Given the description of an element on the screen output the (x, y) to click on. 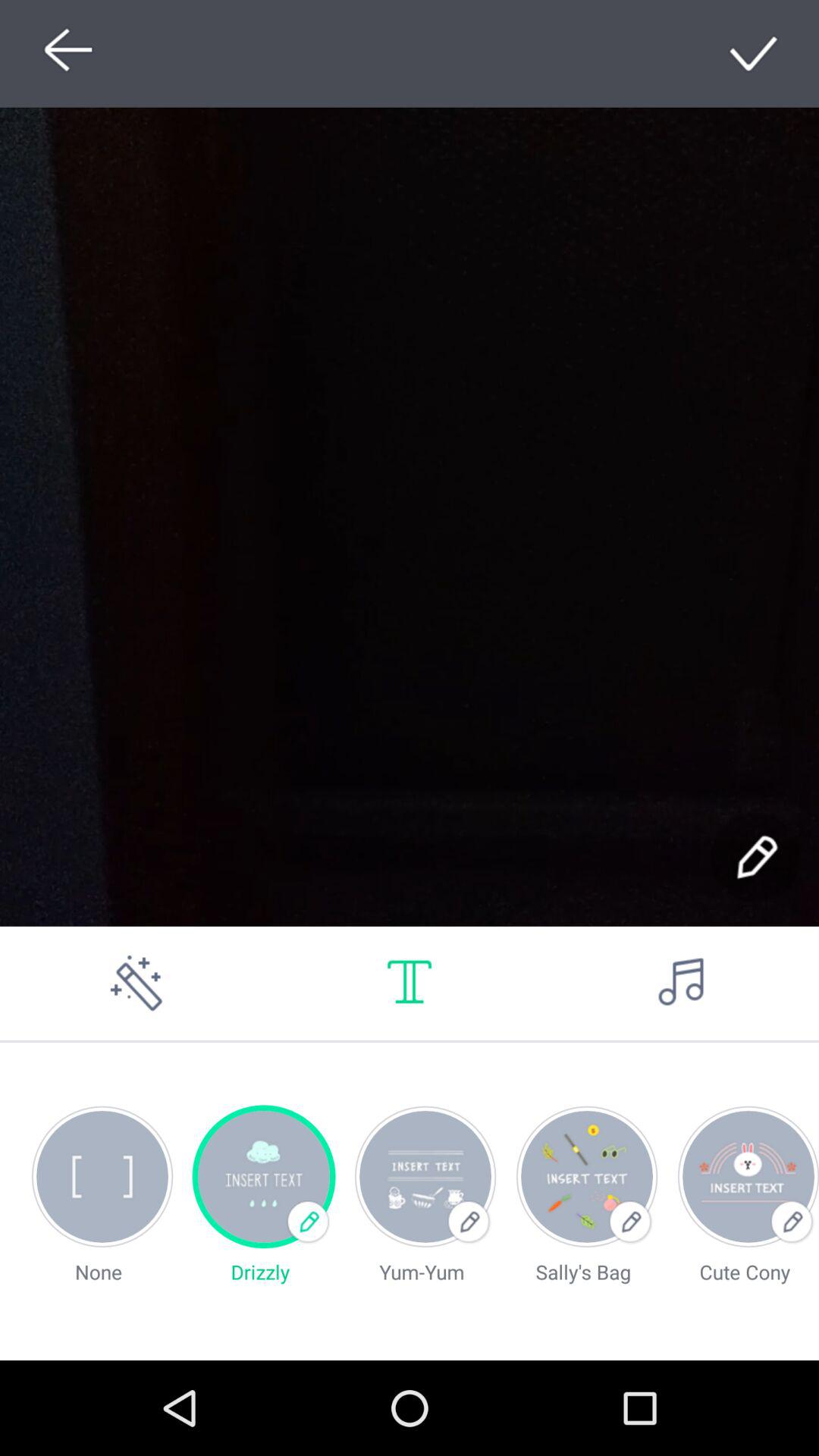
add music (682, 983)
